Given the description of an element on the screen output the (x, y) to click on. 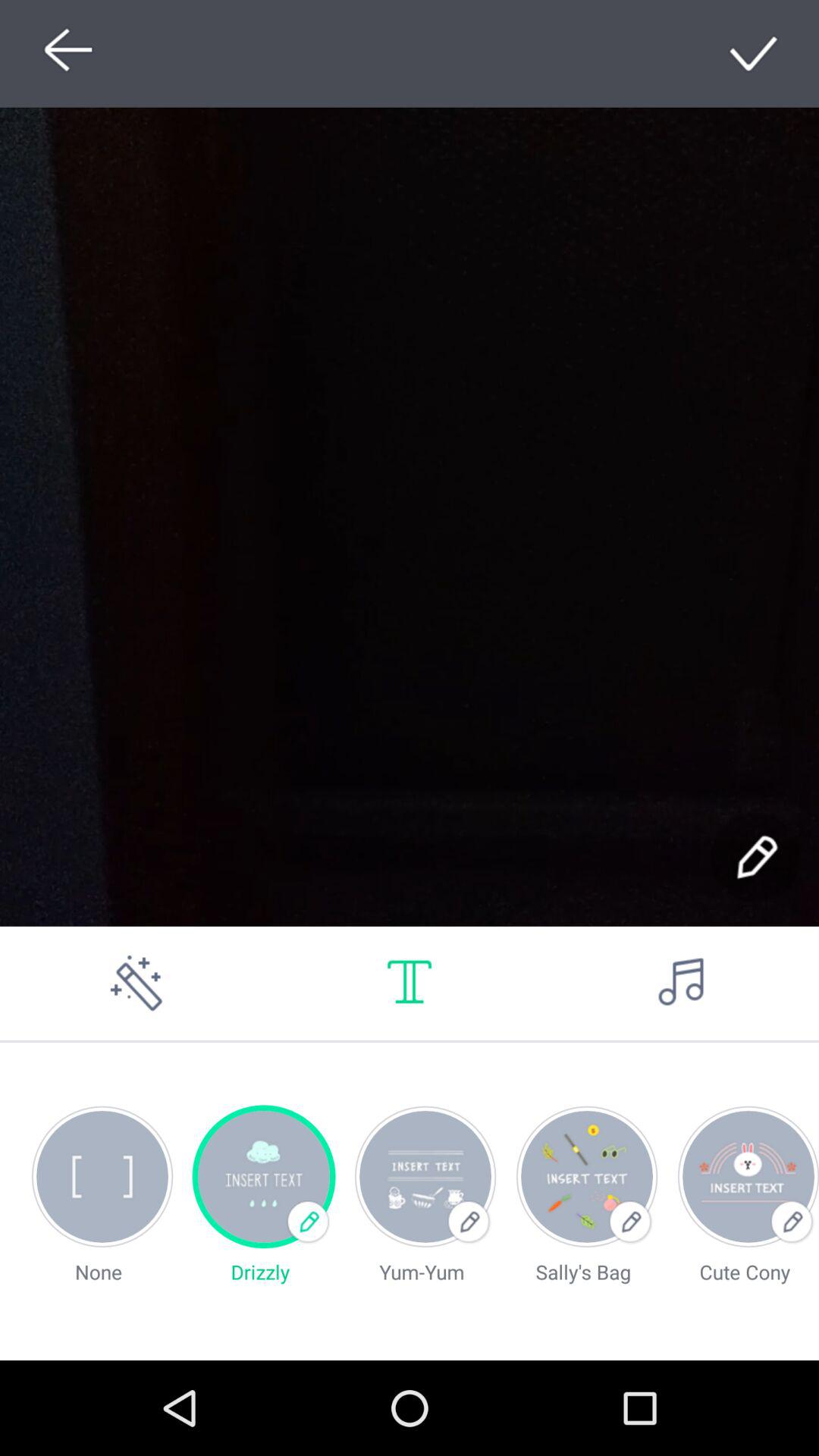
add music (682, 983)
